Given the description of an element on the screen output the (x, y) to click on. 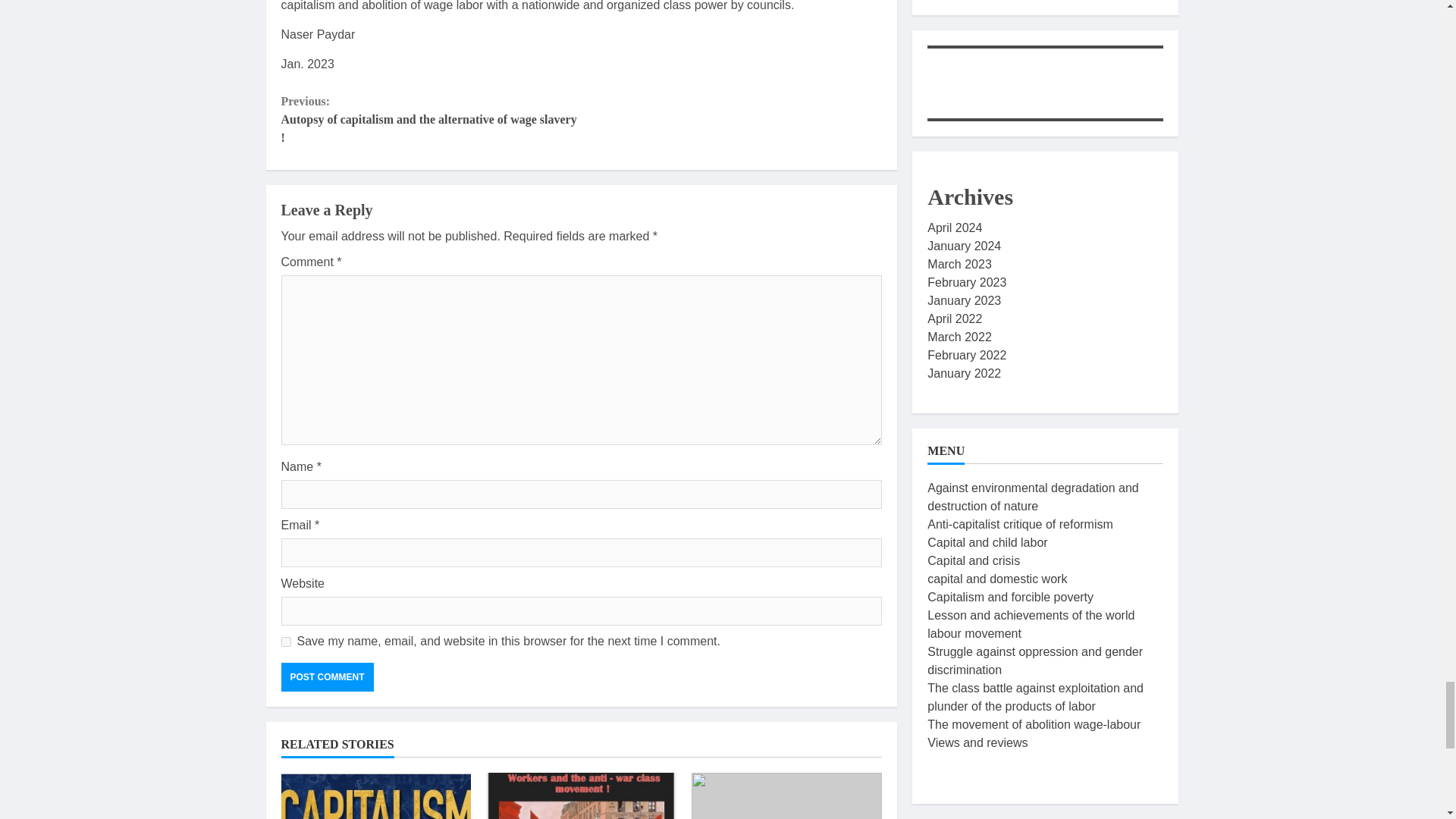
Post Comment (326, 676)
Autopsy of capitalism and the alternative of wage slavery ! (375, 796)
yes (285, 642)
Post Comment (326, 676)
